Given the description of an element on the screen output the (x, y) to click on. 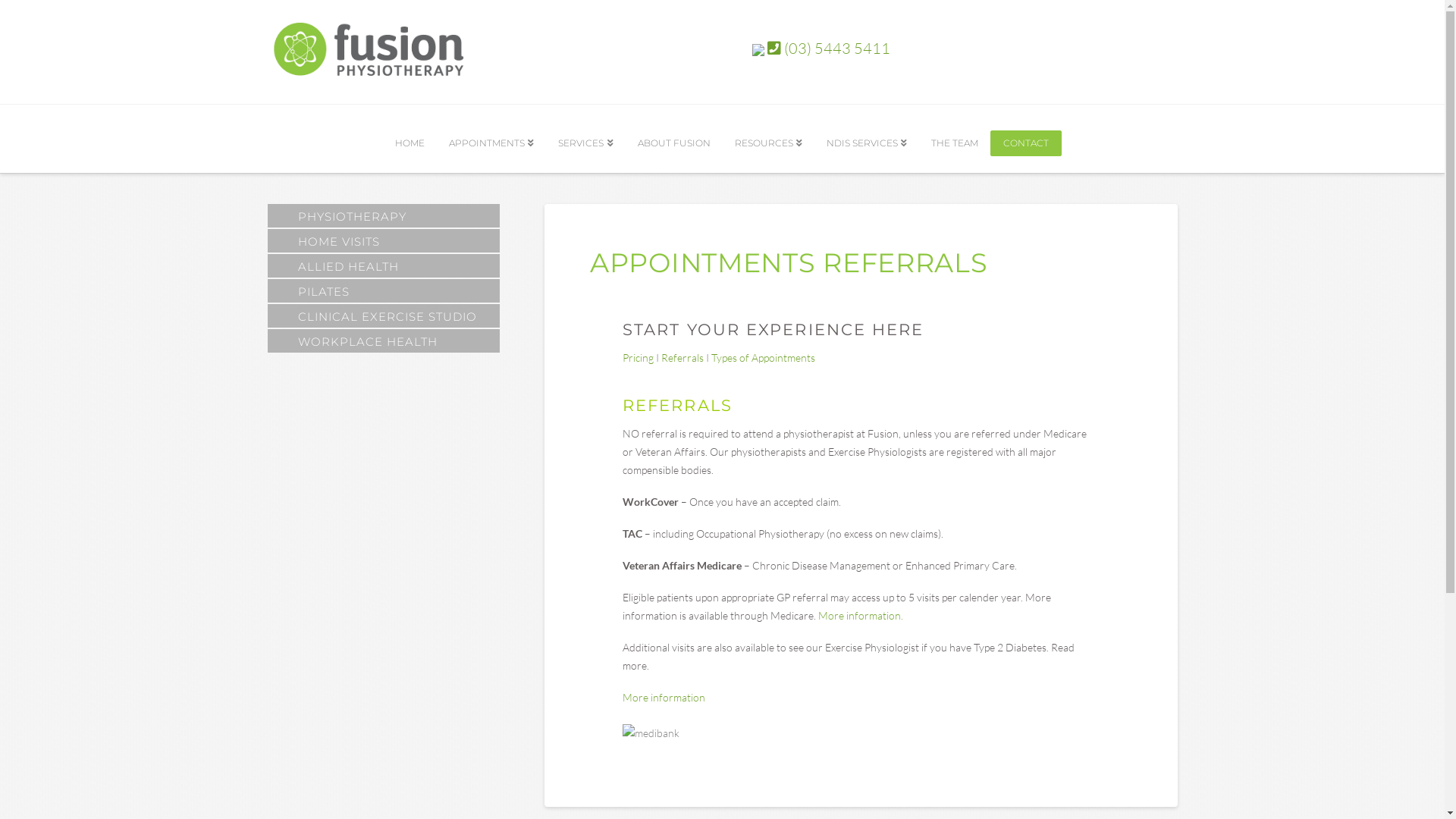
ABOUT FUSION Element type: text (672, 138)
ALLIED HEALTH Element type: text (382, 266)
CONTACT Element type: text (1025, 143)
RESOURCES Element type: text (767, 138)
CLINICAL EXERCISE STUDIO Element type: text (382, 316)
PHYSIOTHERAPY Element type: text (382, 216)
NDIS SERVICES Element type: text (866, 138)
More information. Element type: text (860, 614)
WORKPLACE HEALTH Element type: text (382, 341)
APPOINTMENTS Element type: text (491, 138)
(03) 5443 5411 Element type: text (828, 47)
HOME VISITS Element type: text (382, 241)
PILATES Element type: text (382, 291)
THE TEAM Element type: text (954, 138)
SERVICES Element type: text (585, 138)
HOME Element type: text (409, 138)
More information Element type: text (663, 696)
Types of Appointments Element type: text (763, 357)
Pricing Element type: text (637, 357)
Referrals Element type: text (682, 357)
